Given the description of an element on the screen output the (x, y) to click on. 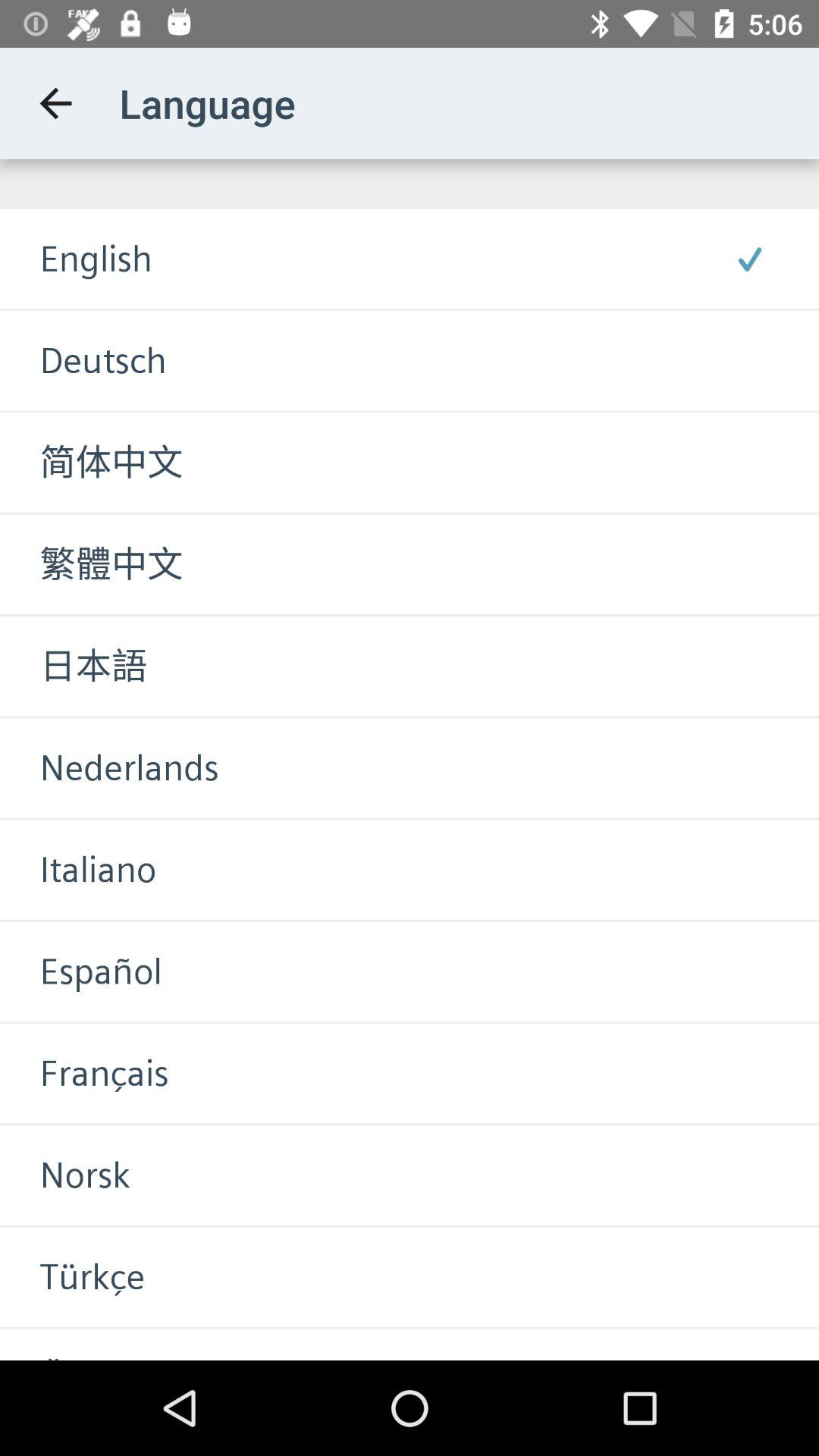
jump until the deutsch (83, 360)
